Given the description of an element on the screen output the (x, y) to click on. 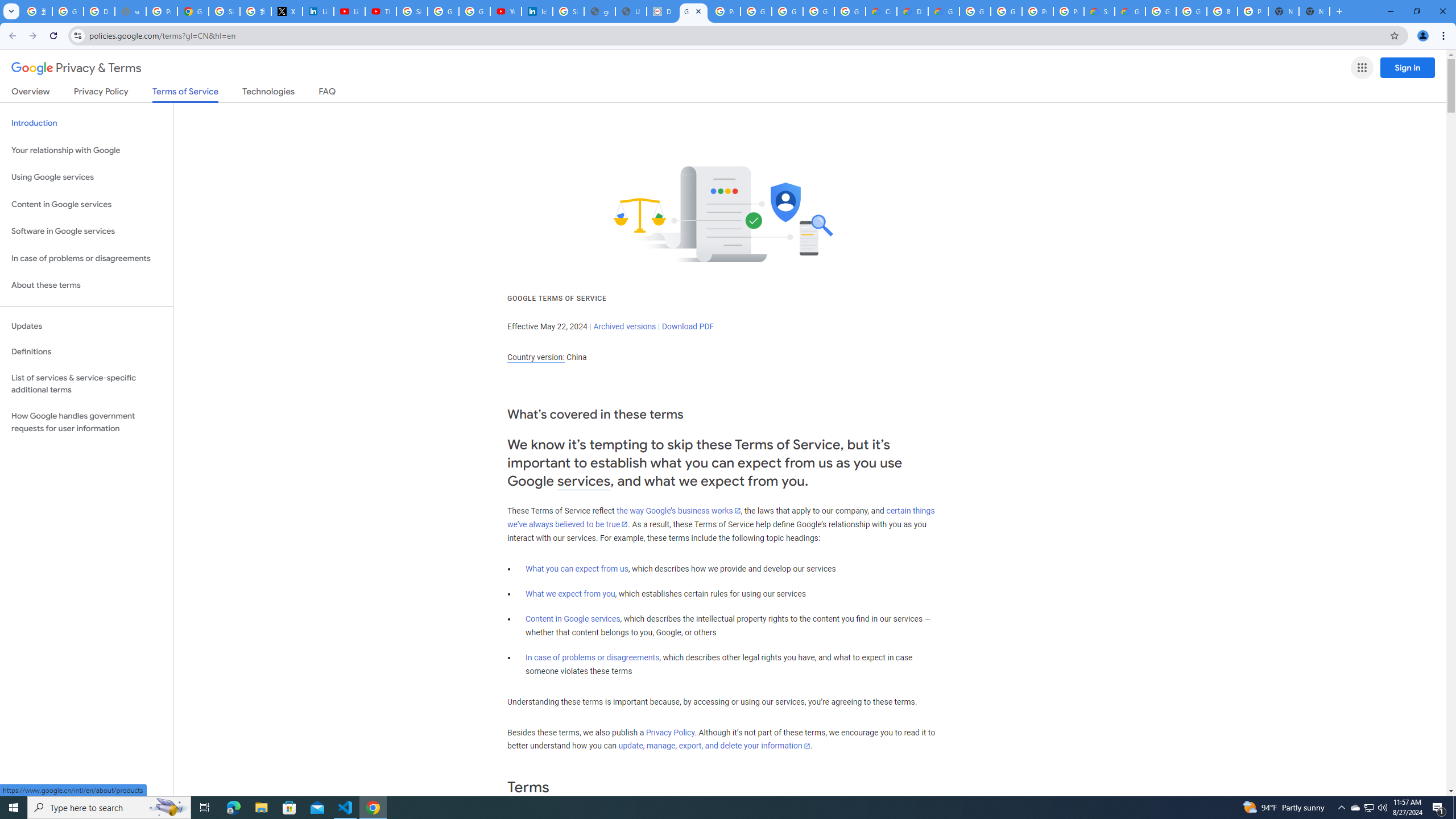
Sign in - Google Accounts (568, 11)
update, manage, export, and delete your information (714, 746)
Privacy Help Center - Policies Help (161, 11)
Introduction (86, 122)
List of services & service-specific additional terms (86, 383)
Sign in - Google Accounts (223, 11)
Google Workspace - Specific Terms (849, 11)
